Given the description of an element on the screen output the (x, y) to click on. 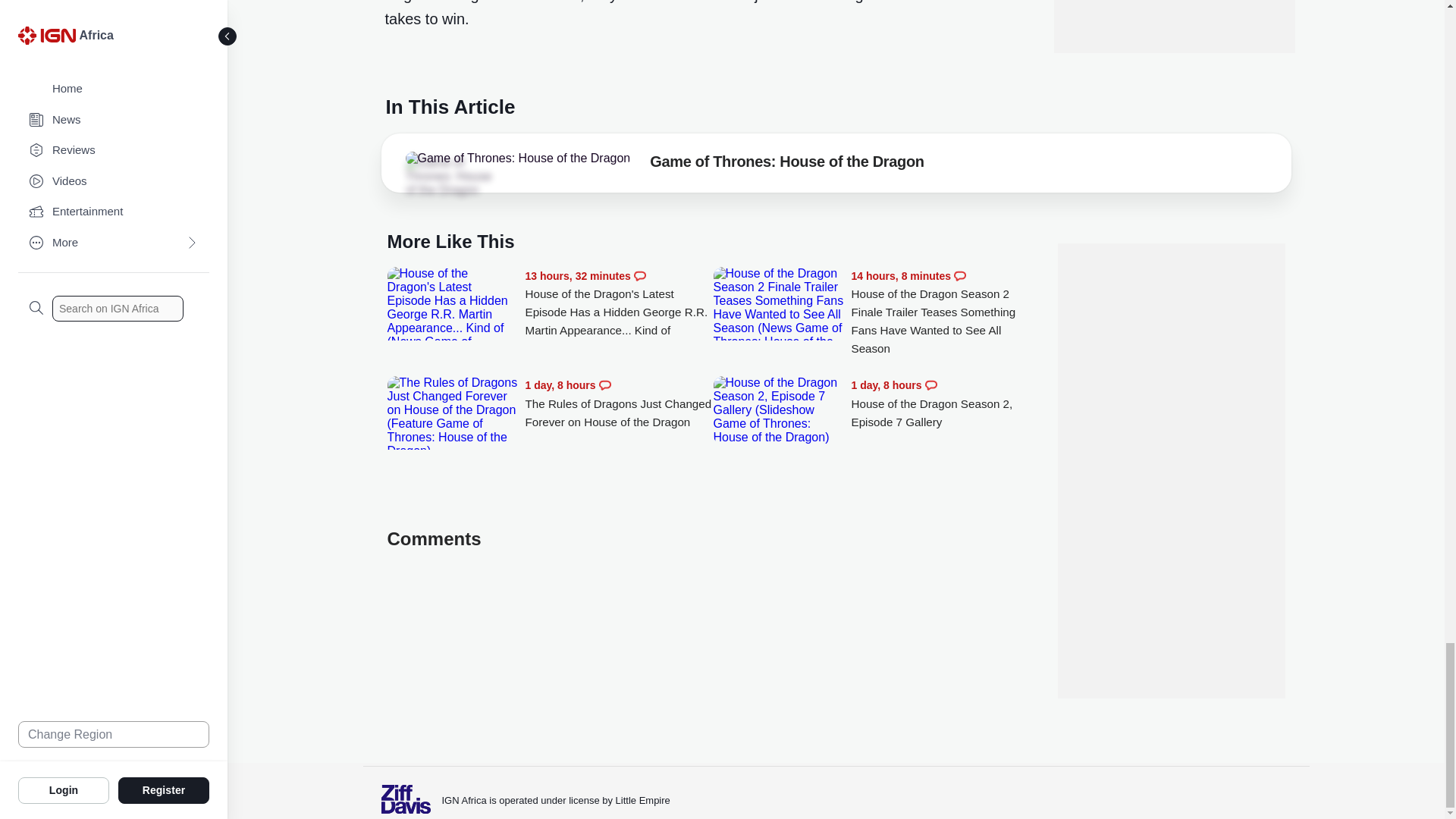
Comments (959, 275)
Comments (639, 275)
Game of Thrones: House of the Dragon (517, 158)
House of the Dragon Season 2, Episode 7 Gallery (778, 409)
Comments (930, 385)
Comments (604, 385)
Game of Thrones: House of the Dragon (448, 176)
Game of Thrones: House of the Dragon (786, 164)
House of the Dragon Season 2, Episode 7 Gallery (944, 403)
